Given the description of an element on the screen output the (x, y) to click on. 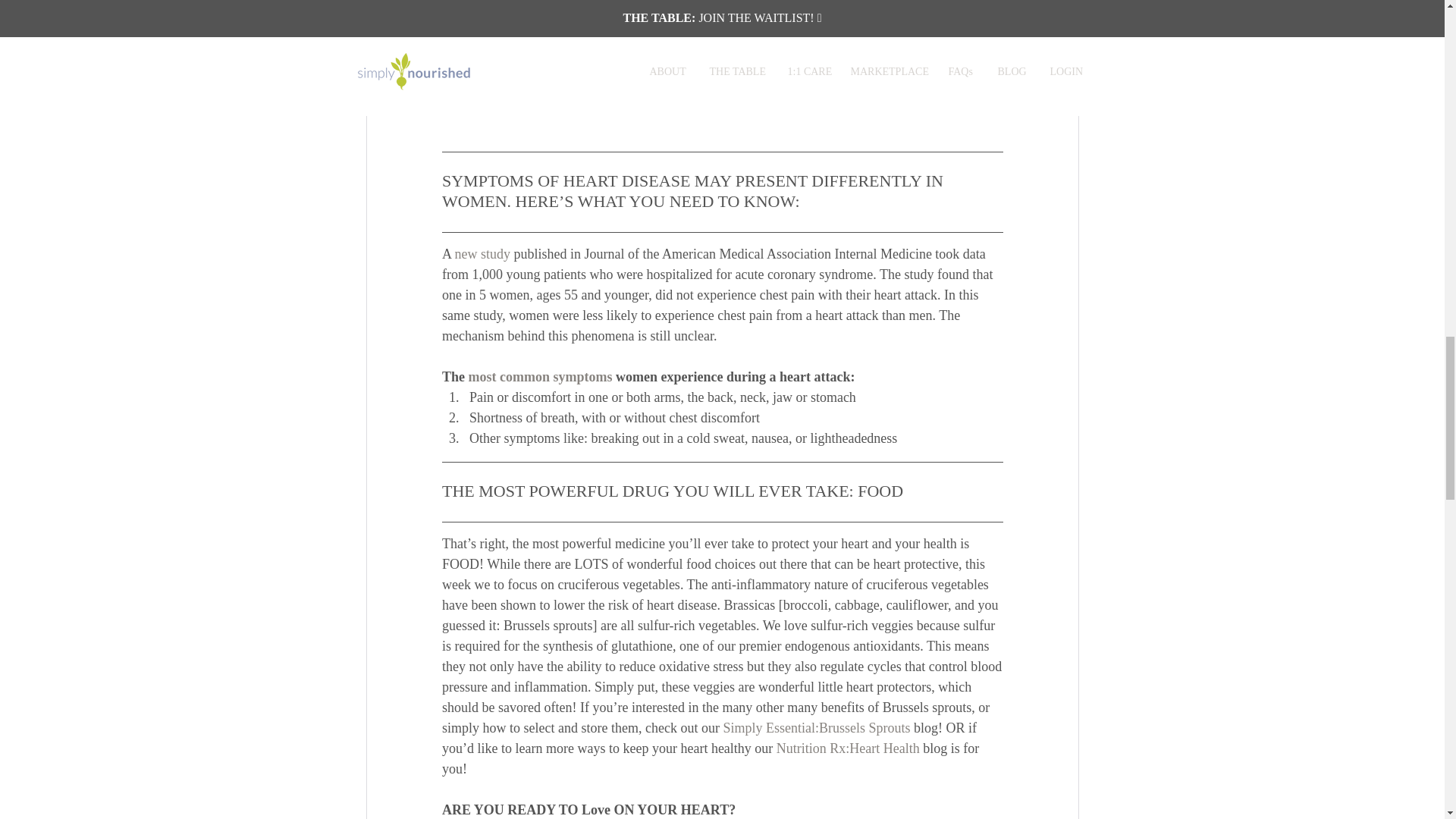
Nutrition Rx:Heart Health (847, 749)
 Circulation (831, 46)
new study (482, 253)
Simply Essential:Brussels Sprouts (816, 728)
most common symptoms (539, 376)
